Given the description of an element on the screen output the (x, y) to click on. 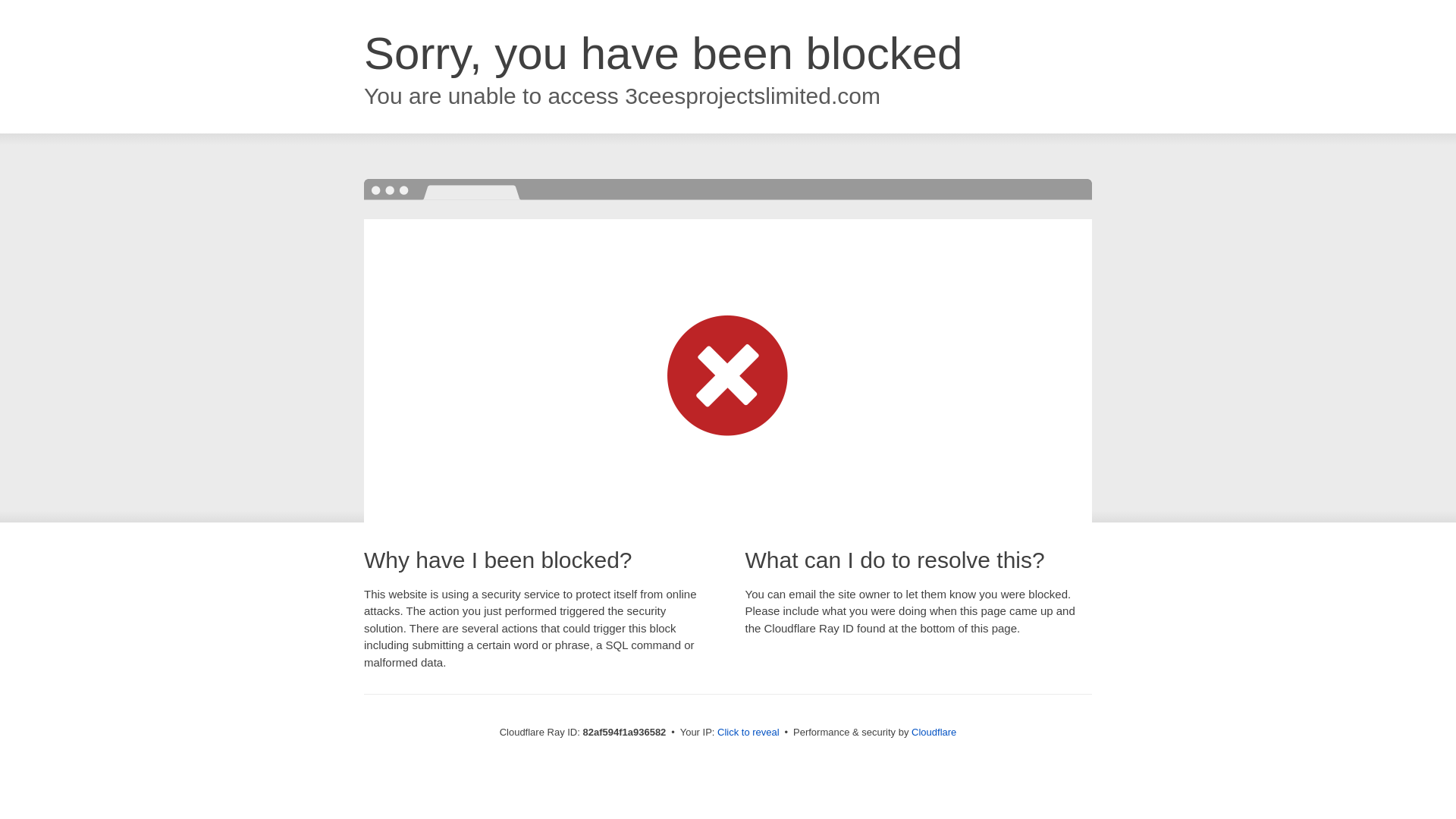
Click to reveal Element type: text (748, 732)
Cloudflare Element type: text (933, 731)
